Given the description of an element on the screen output the (x, y) to click on. 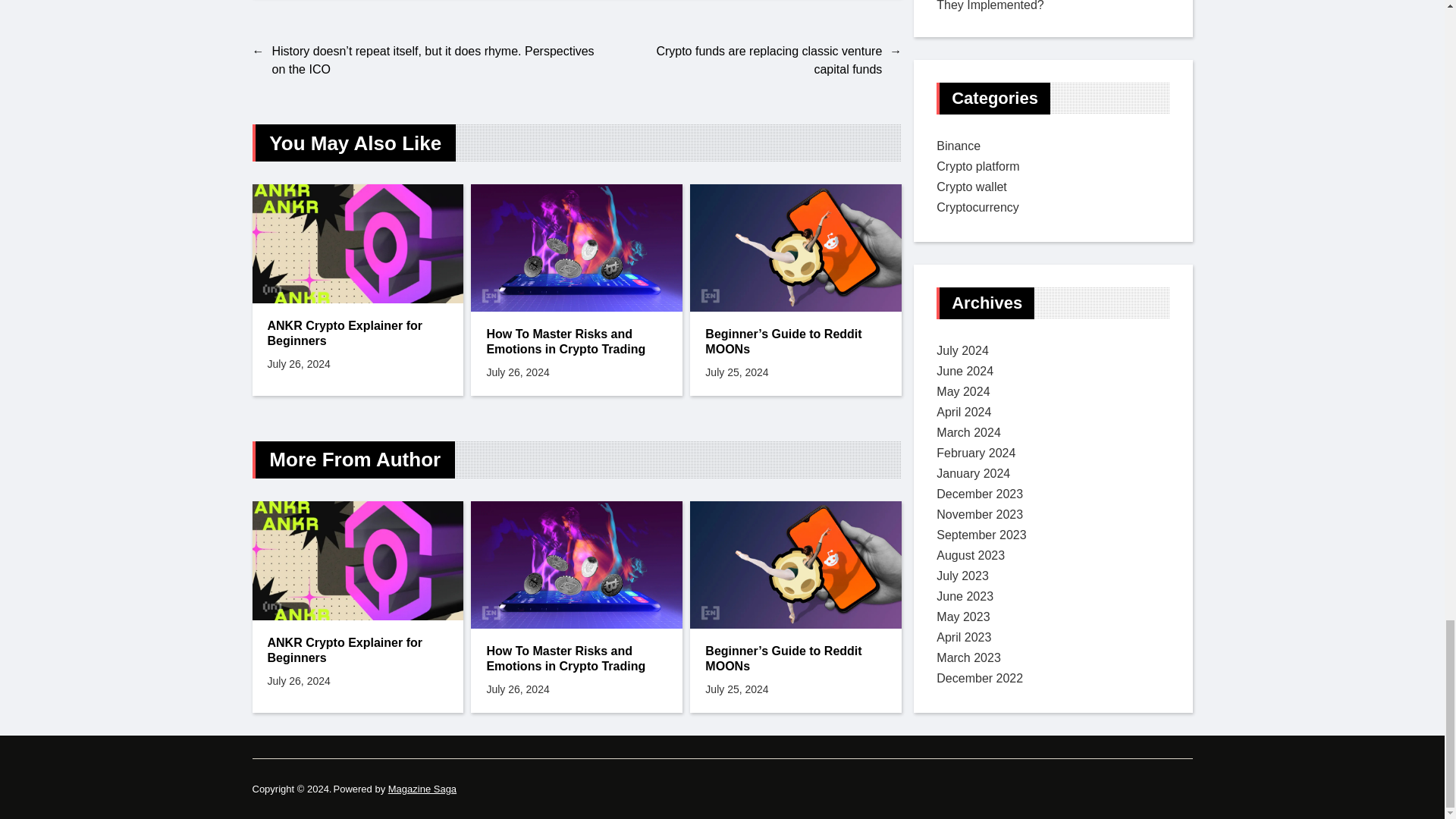
How To Master Risks and Emotions in Crypto Trading (576, 341)
How To Master Risks and Emotions in Crypto Trading (576, 658)
ANKR Crypto Explainer for Beginners (357, 333)
ANKR Crypto Explainer for Beginners (357, 650)
